Given the description of an element on the screen output the (x, y) to click on. 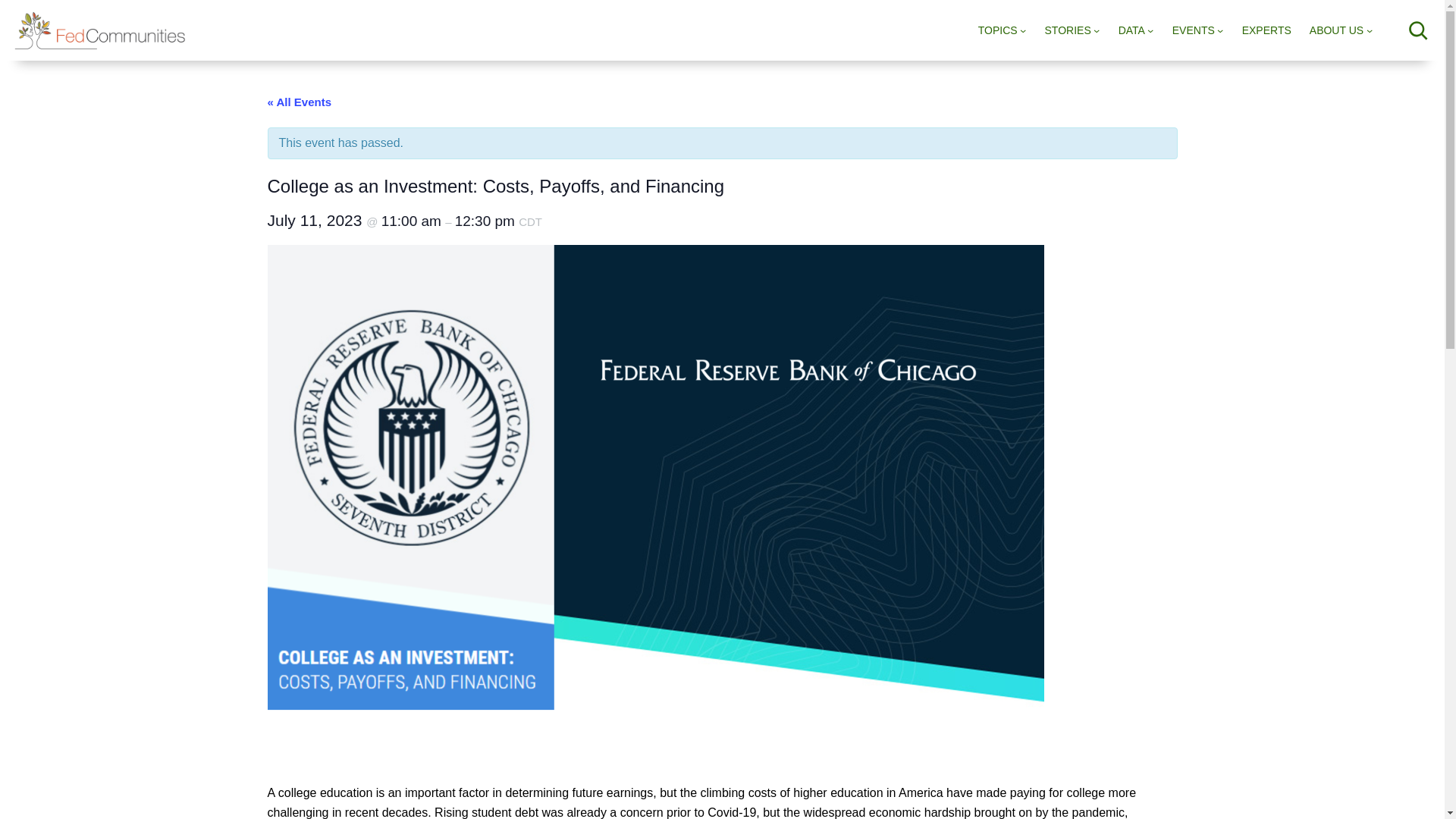
TOPICS (997, 30)
EVENTS (1193, 30)
STORIES (1067, 30)
DATA (1131, 30)
